Given the description of an element on the screen output the (x, y) to click on. 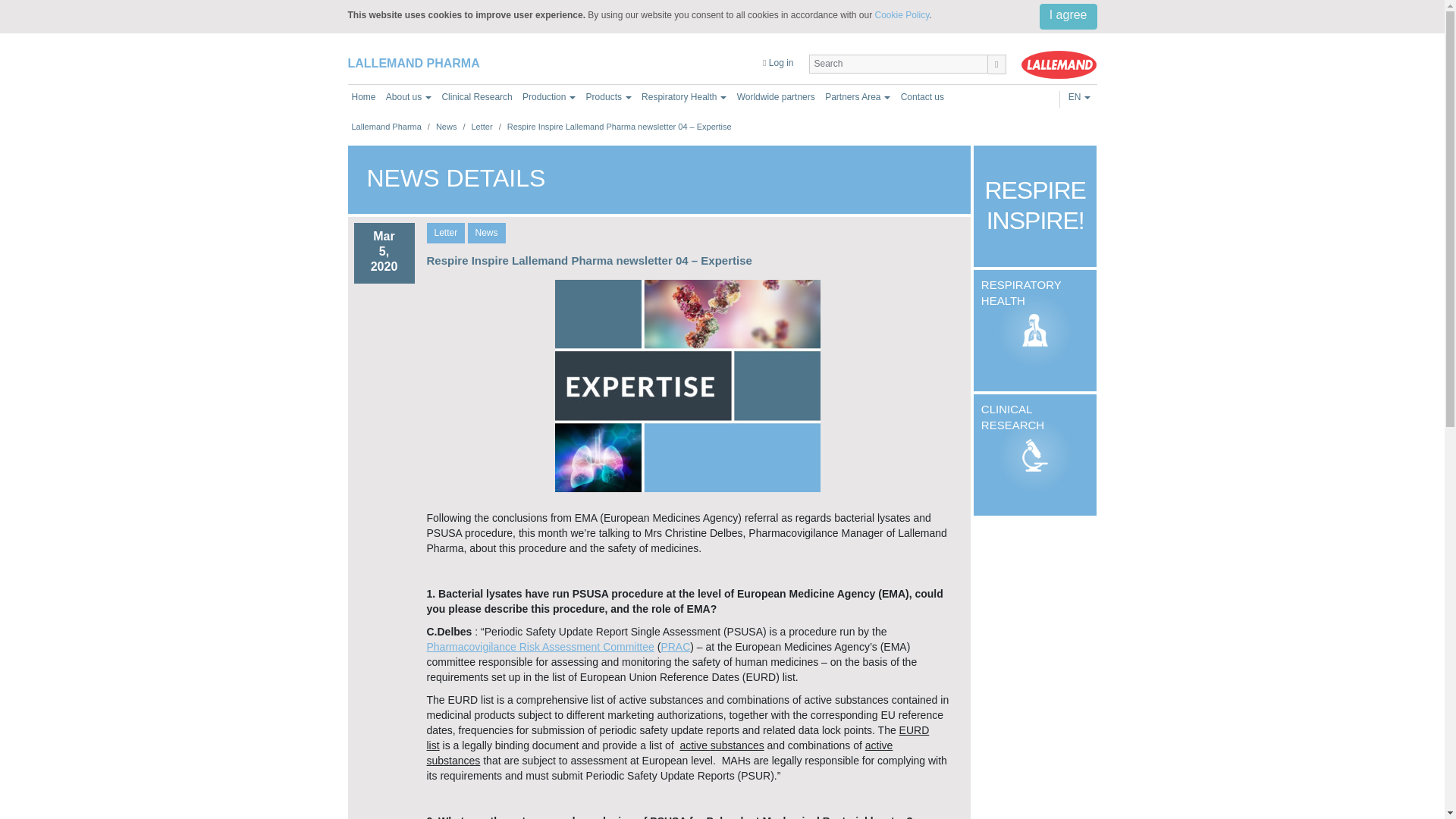
LALLEMAND PHARMA (413, 62)
Log in (777, 62)
Cookie Policy (902, 14)
I agree (1068, 16)
